Given the description of an element on the screen output the (x, y) to click on. 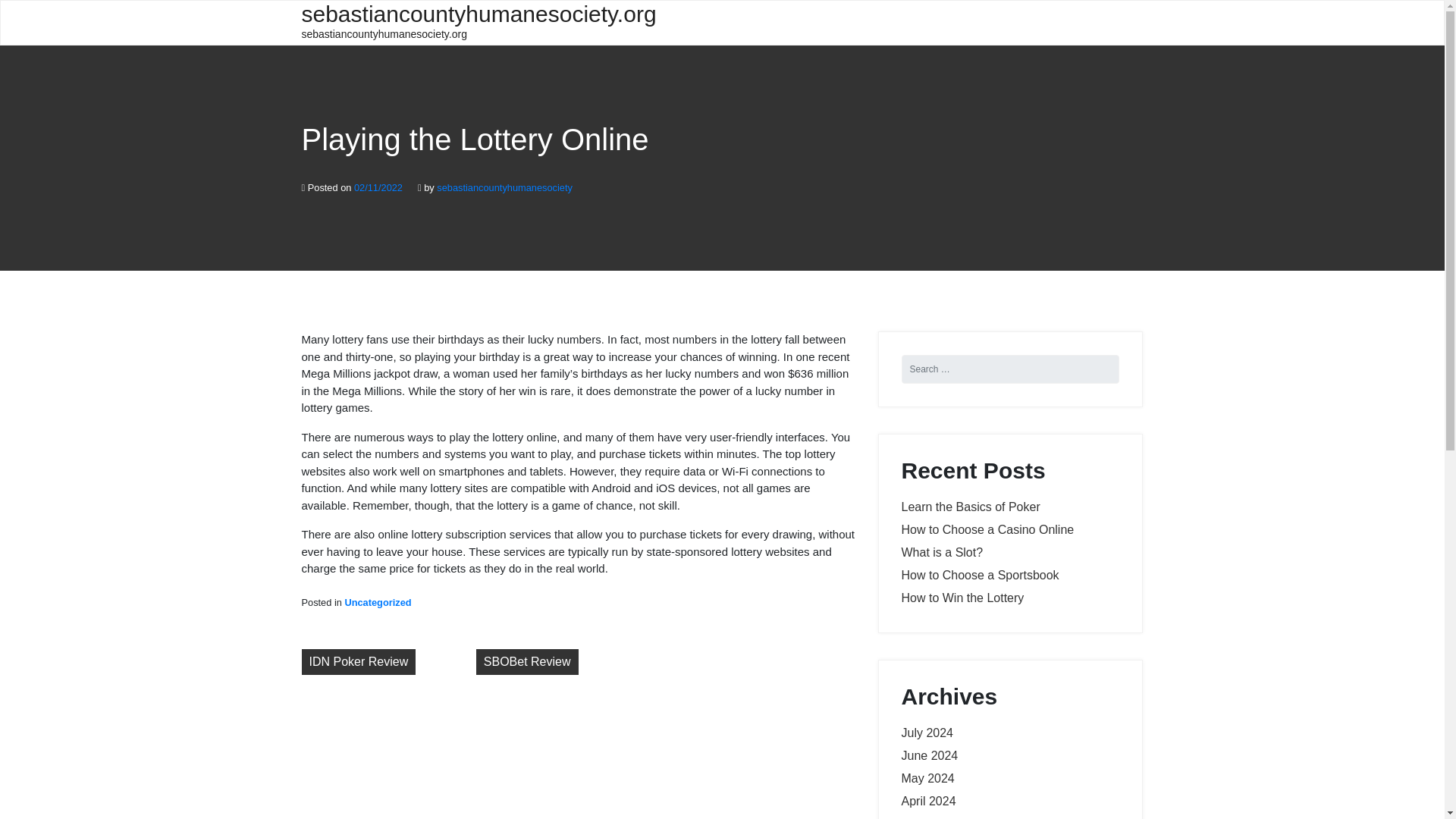
What is a Slot? (941, 552)
SBOBet Review (527, 661)
IDN Poker Review (358, 661)
July 2024 (927, 732)
How to Choose a Casino Online (987, 529)
May 2024 (927, 778)
Learn the Basics of Poker (970, 506)
March 2024 (933, 818)
How to Win the Lottery (962, 597)
June 2024 (929, 755)
How to Choose a Sportsbook (979, 574)
sebastiancountyhumanesociety (504, 187)
Uncategorized (376, 602)
April 2024 (928, 800)
